Given the description of an element on the screen output the (x, y) to click on. 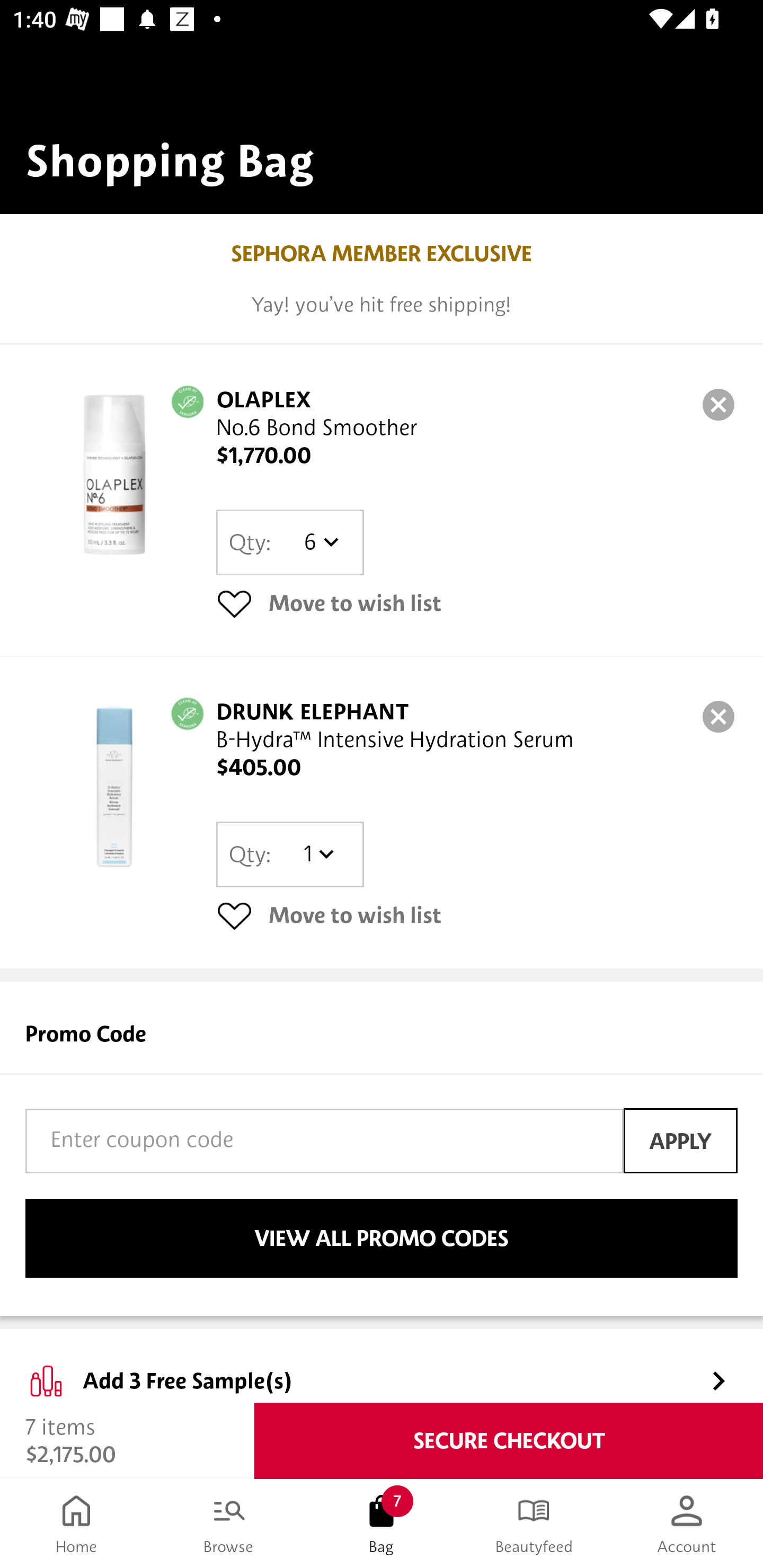
6 (317, 542)
Move to wish list (476, 602)
1 (317, 854)
Move to wish list (476, 914)
APPLY (680, 1140)
Enter coupon code (324, 1140)
VIEW ALL PROMO CODES (381, 1238)
Add 3 Free Sample(s) (381, 1365)
SECURE CHECKOUT (508, 1440)
Home (76, 1523)
Browse (228, 1523)
Beautyfeed (533, 1523)
Account (686, 1523)
